Given the description of an element on the screen output the (x, y) to click on. 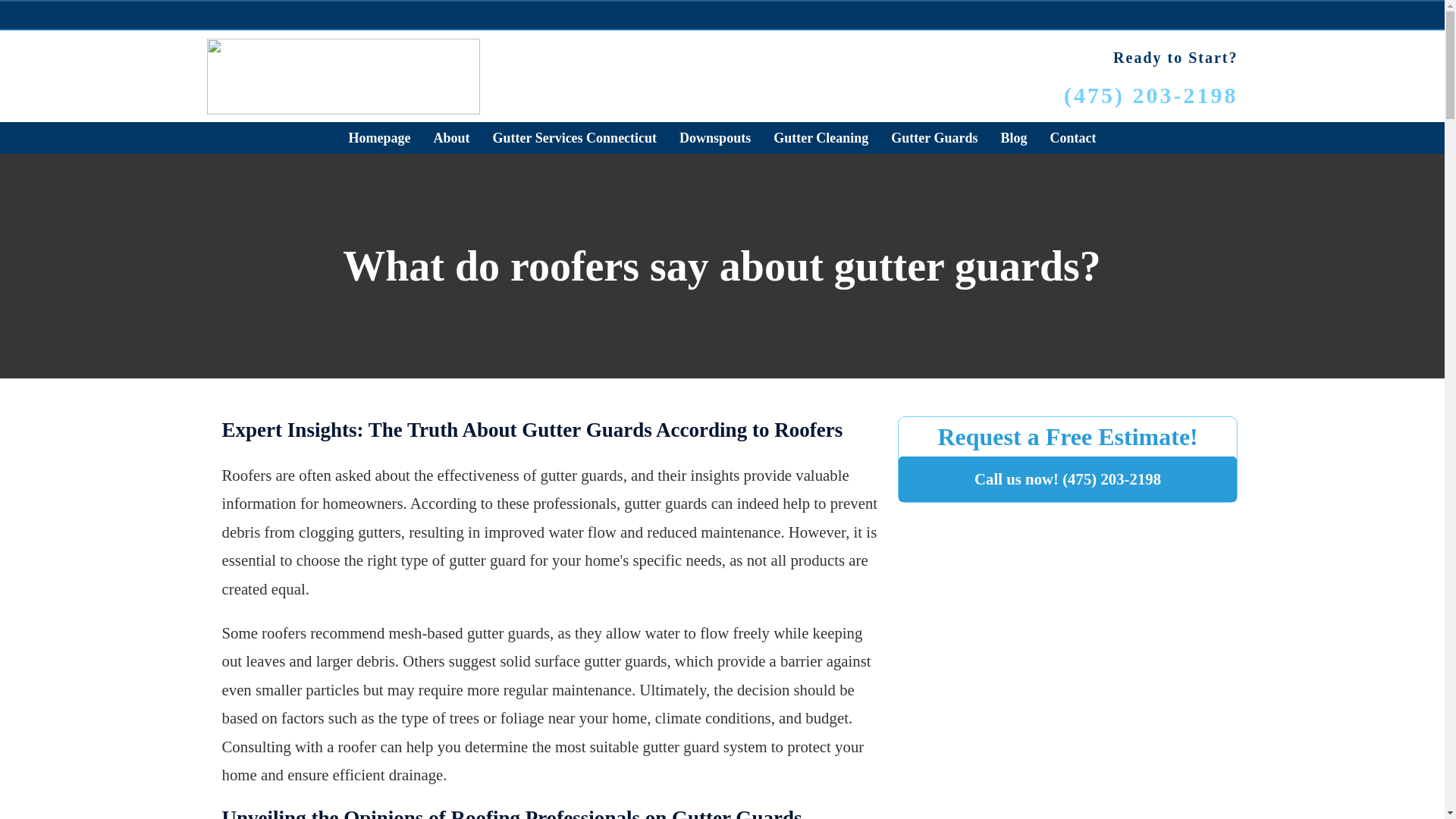
Downspouts (714, 137)
Contact (1073, 137)
Blog (1012, 137)
About (451, 137)
Gutter Services Connecticut (574, 137)
Gutter Guards (933, 137)
Homepage (378, 137)
Gutter Cleaning (821, 137)
